Given the description of an element on the screen output the (x, y) to click on. 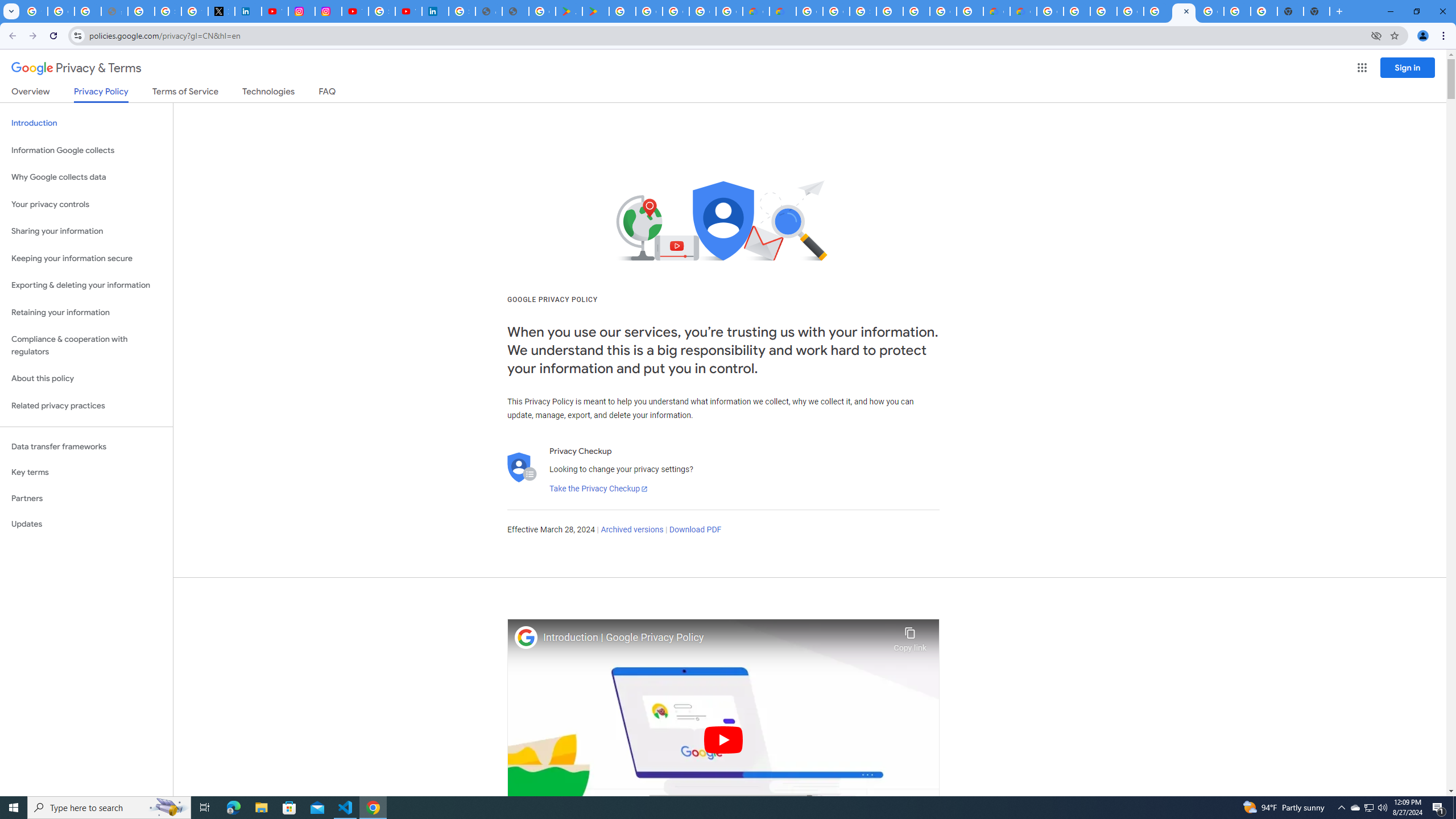
Download PDF (695, 529)
Sign in - Google Accounts (382, 11)
Privacy & Terms (76, 68)
Compliance & cooperation with regulators (86, 345)
